Given the description of an element on the screen output the (x, y) to click on. 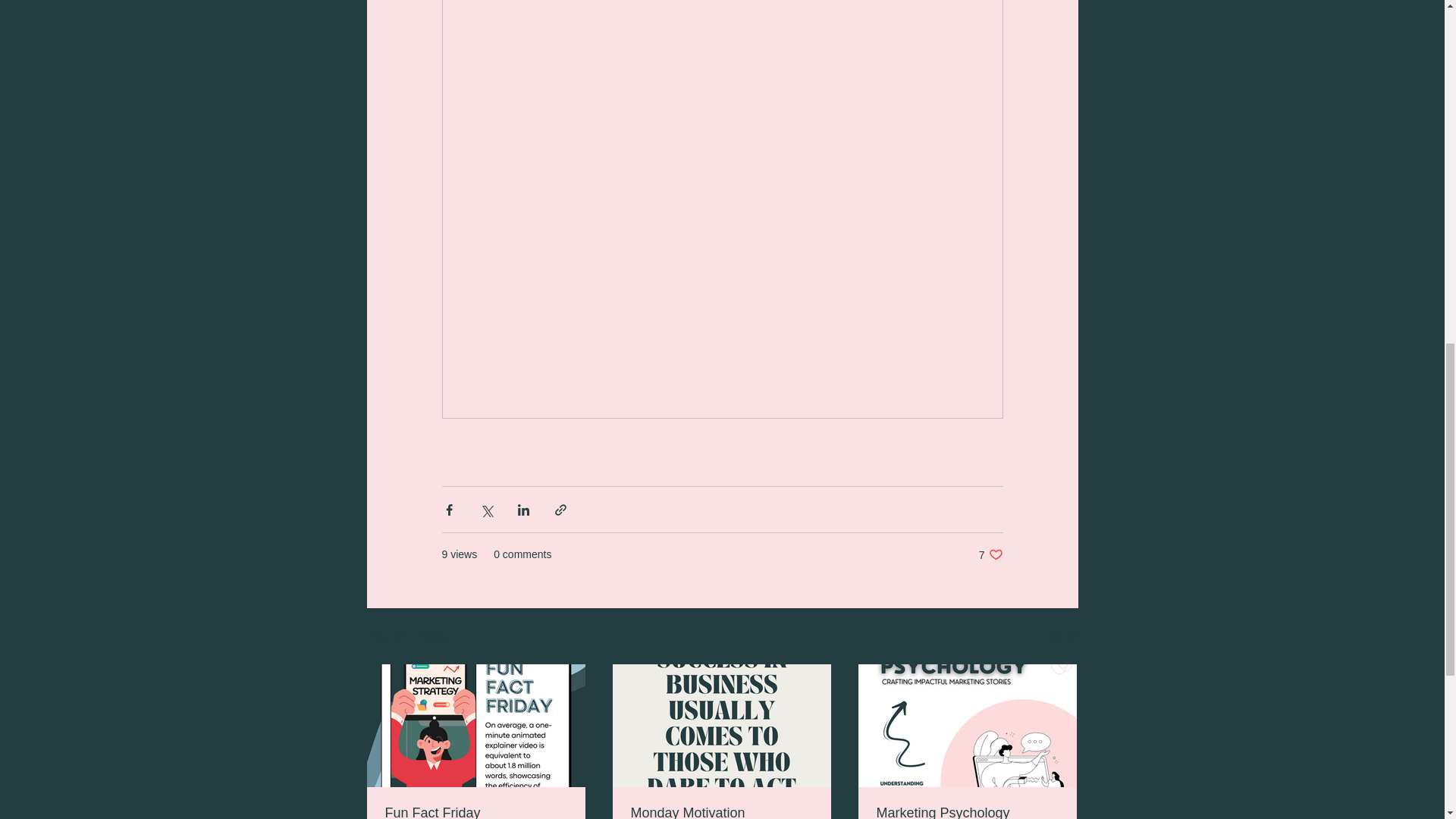
Fun Fact Friday (476, 812)
See All (1061, 637)
Monday Motivation (721, 812)
Marketing Psychology (990, 554)
